Given the description of an element on the screen output the (x, y) to click on. 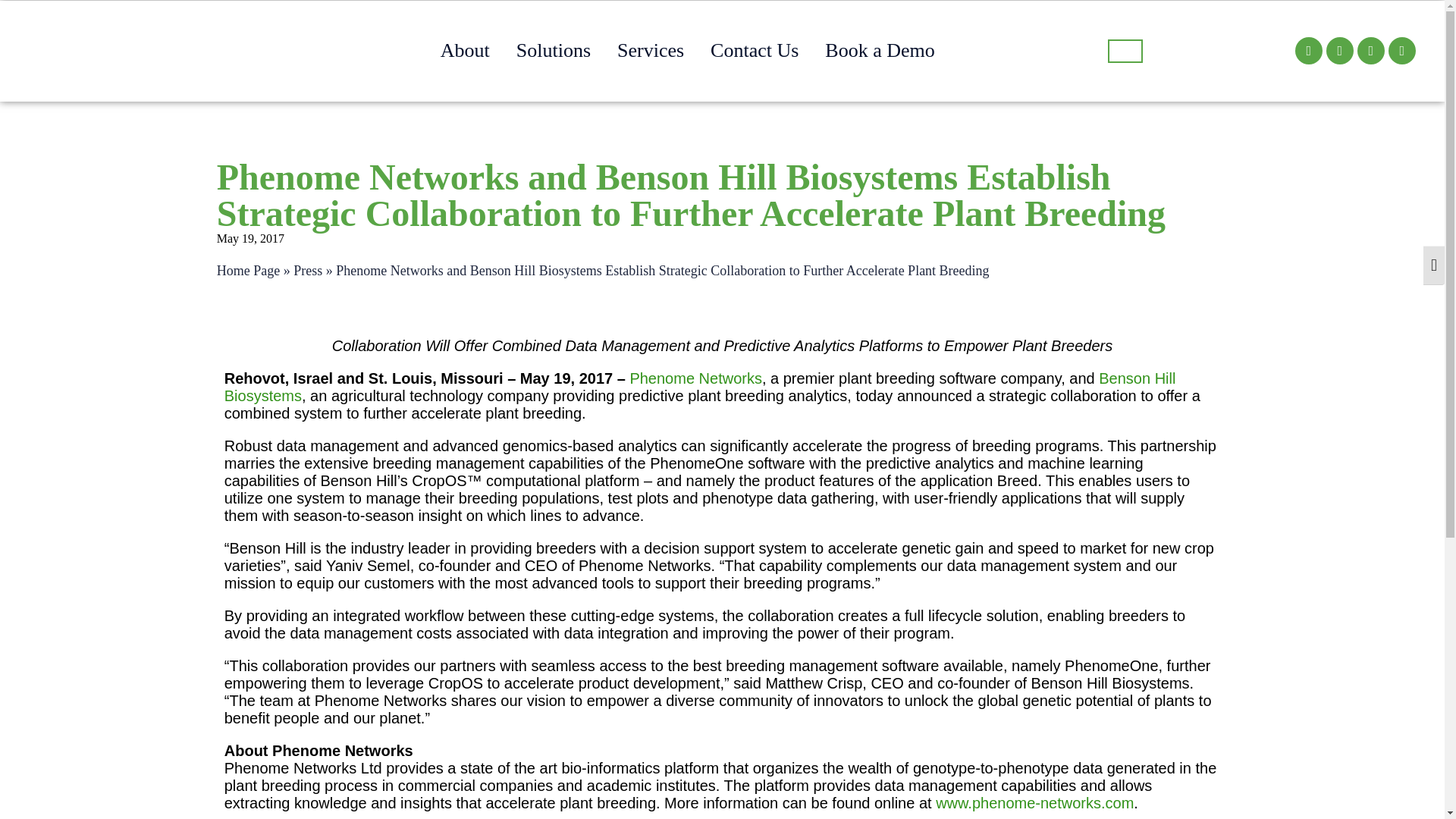
About (465, 51)
Solutions (553, 51)
Book a Demo (879, 51)
Services (650, 51)
Contact Us (753, 51)
